Given the description of an element on the screen output the (x, y) to click on. 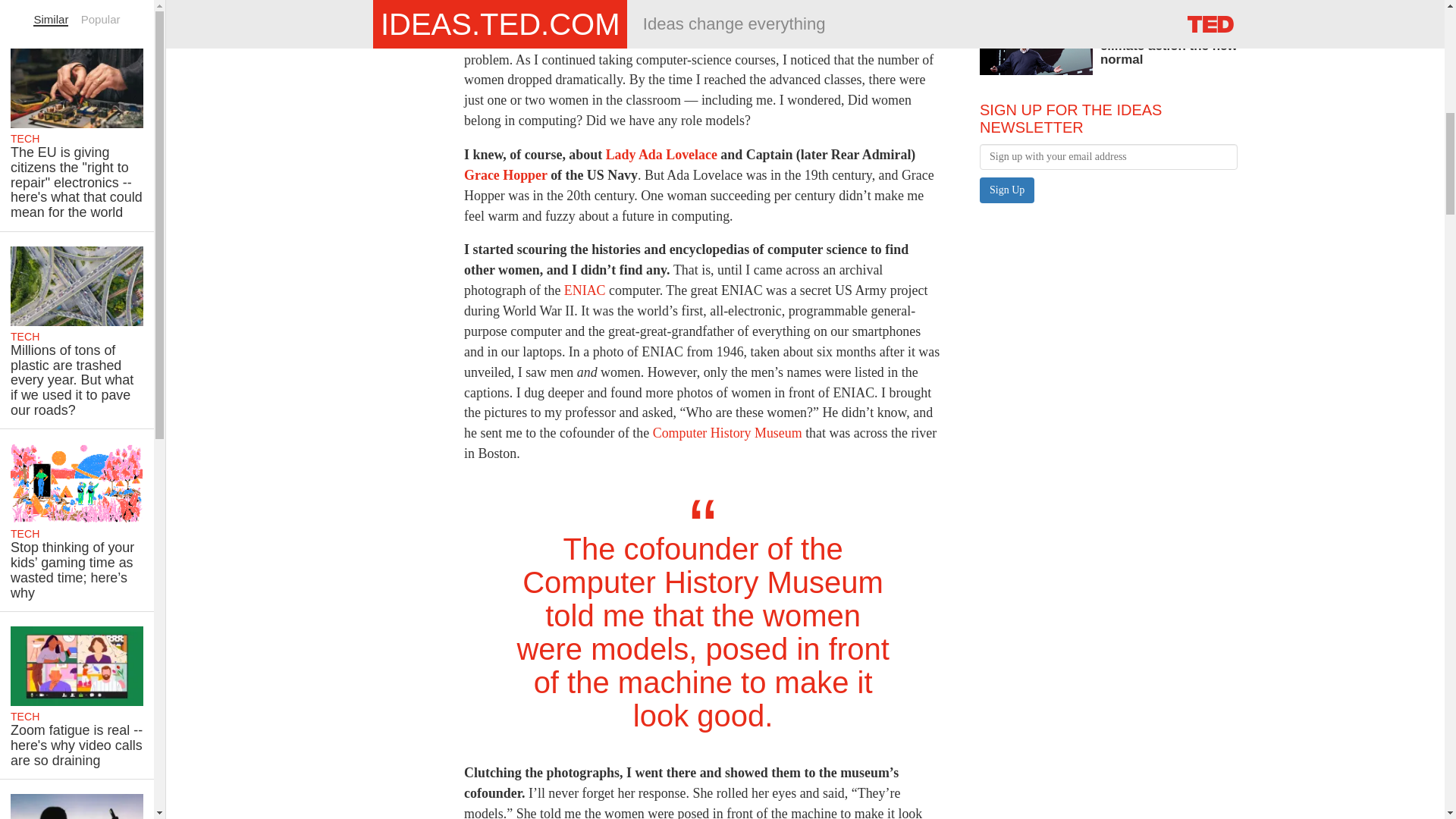
Grace Hopper (505, 174)
Lady Ada Lovelace (661, 154)
Computer History Museum (727, 432)
ENIAC (586, 290)
Sign Up (1006, 190)
